Given the description of an element on the screen output the (x, y) to click on. 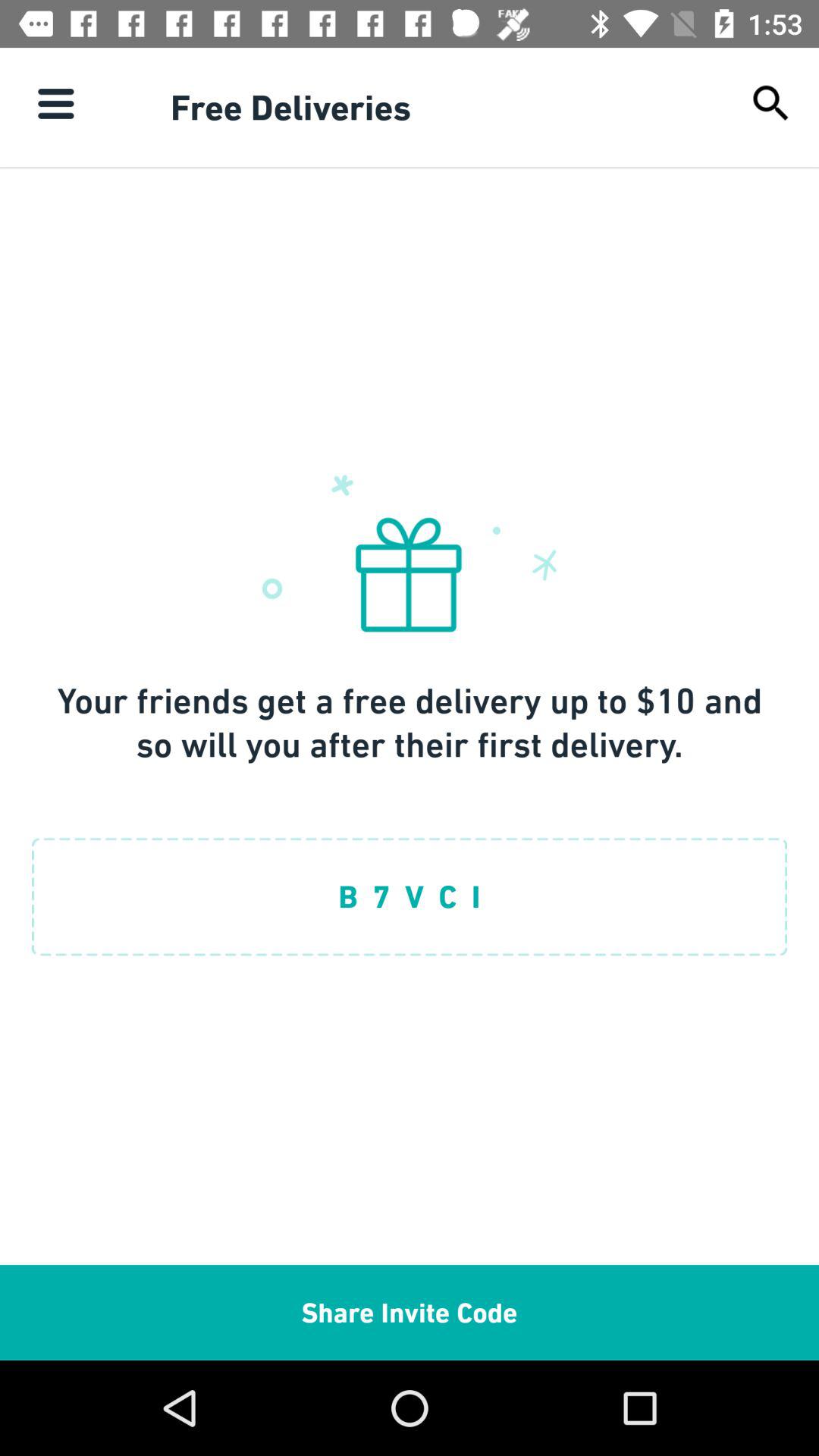
launch icon at the top left corner (55, 103)
